Given the description of an element on the screen output the (x, y) to click on. 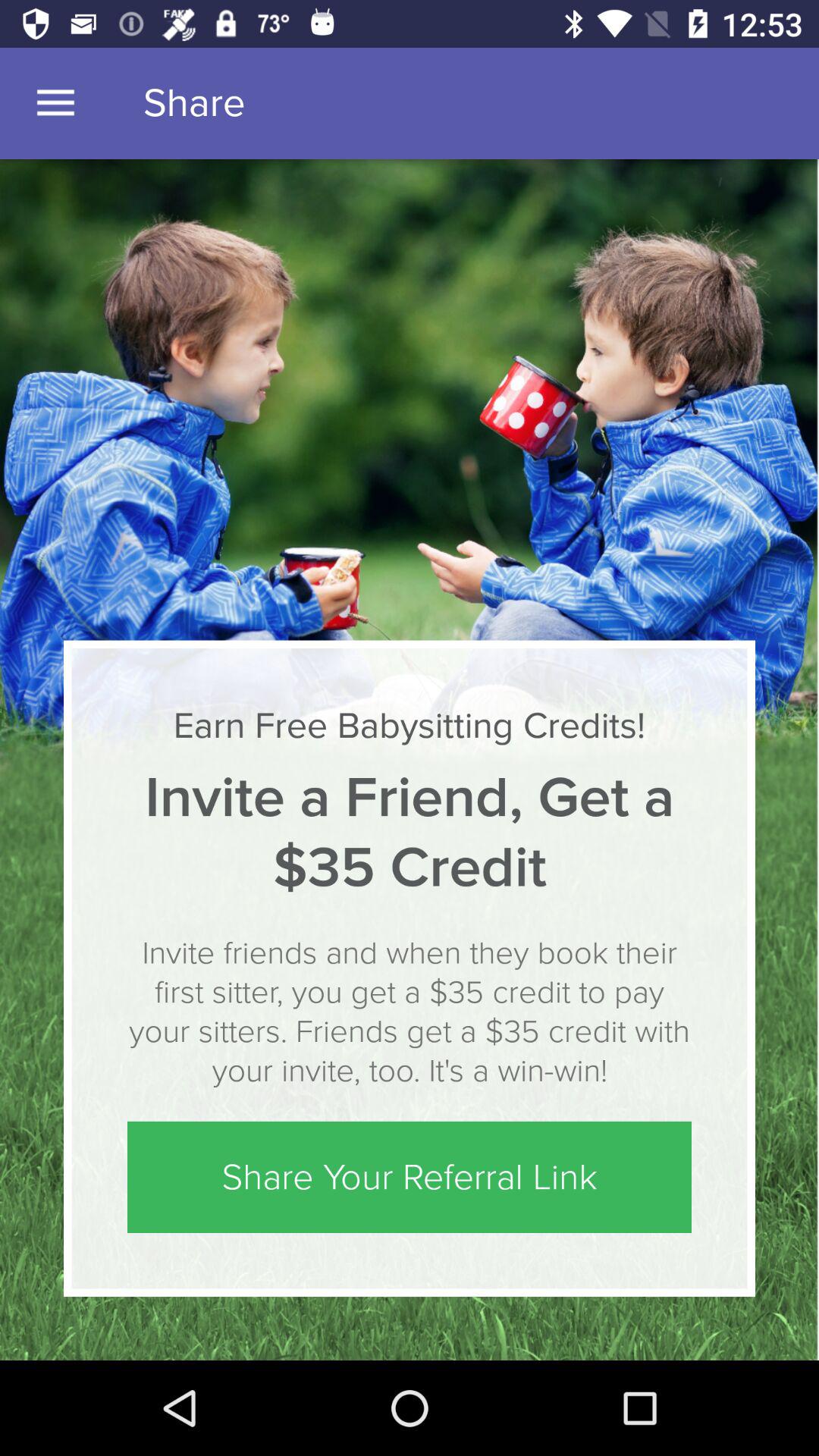
tap icon next to share (55, 103)
